Given the description of an element on the screen output the (x, y) to click on. 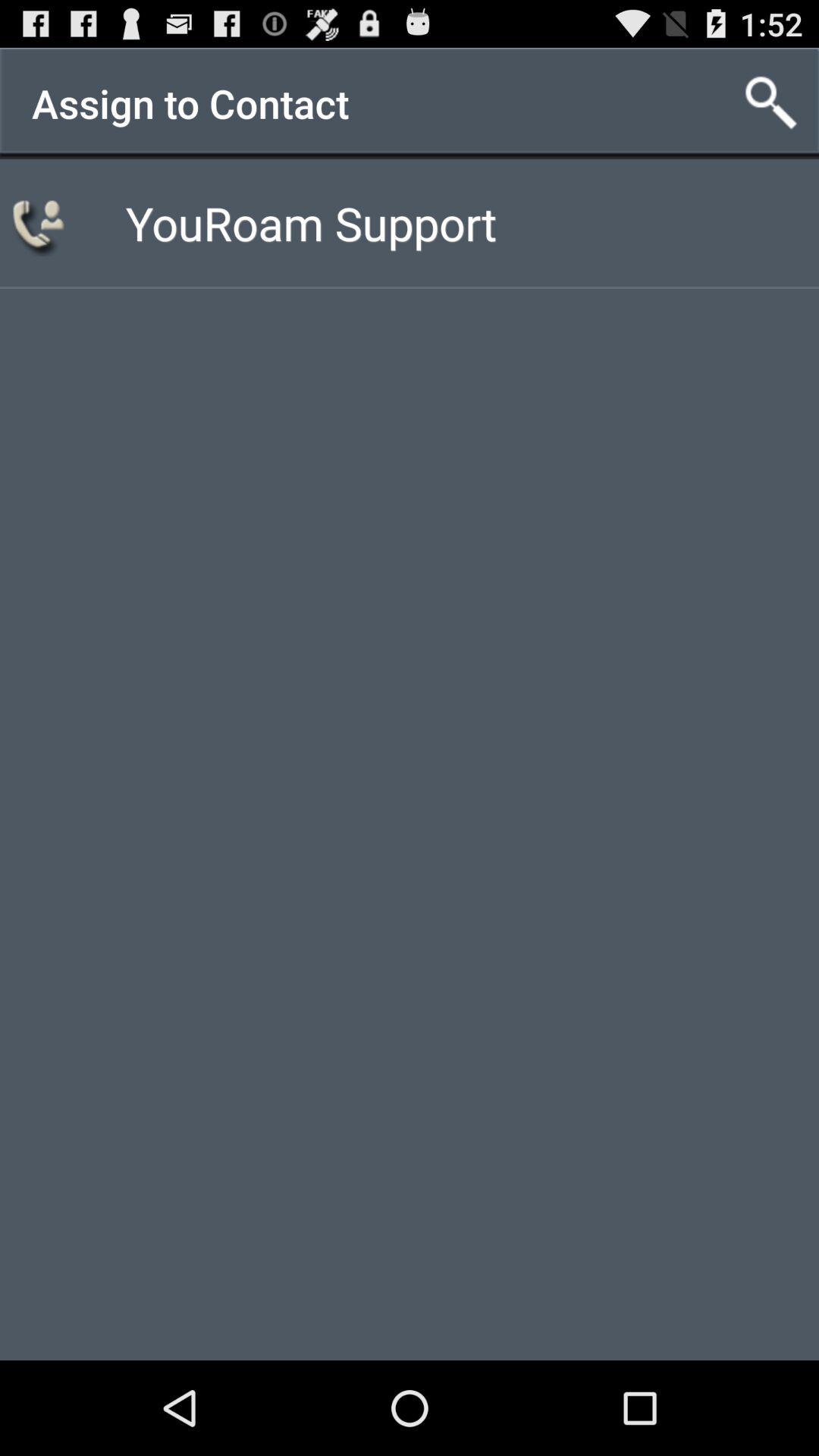
open the item to the right of the assign to contact app (771, 103)
